Given the description of an element on the screen output the (x, y) to click on. 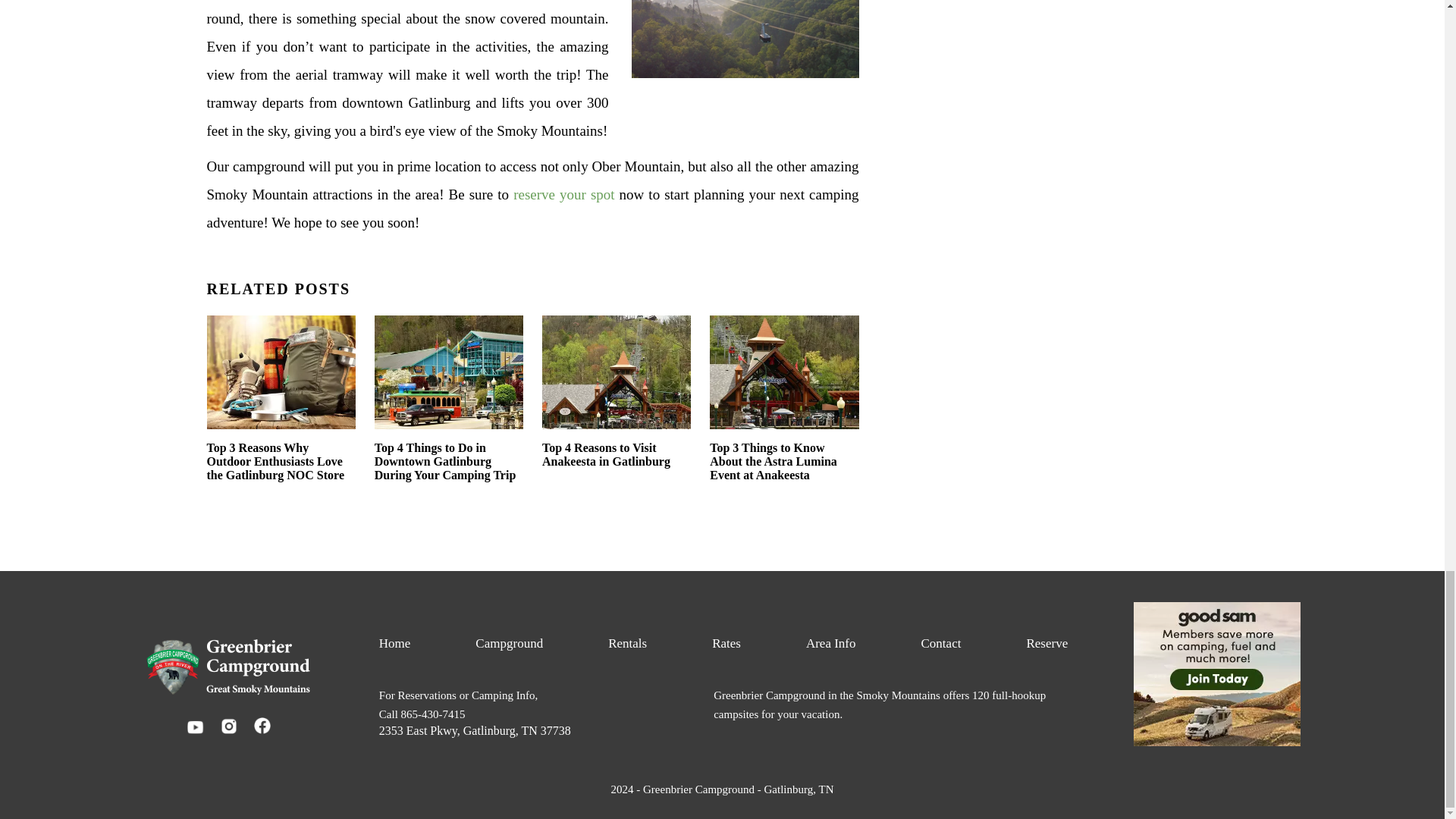
reserve your spot (563, 194)
Top 4 Reasons to Visit Anakeesta in Gatlinburg (615, 398)
